Given the description of an element on the screen output the (x, y) to click on. 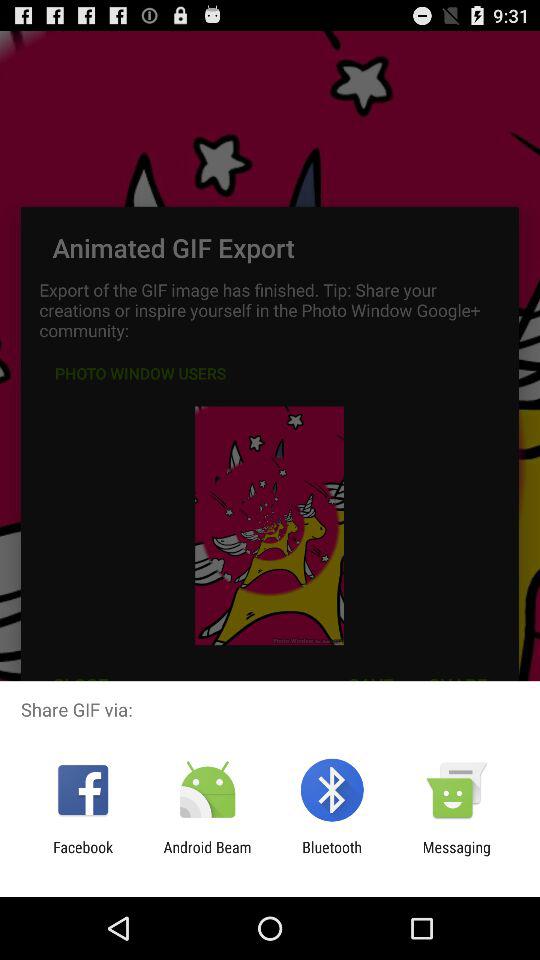
click the app next to the messaging item (331, 856)
